Given the description of an element on the screen output the (x, y) to click on. 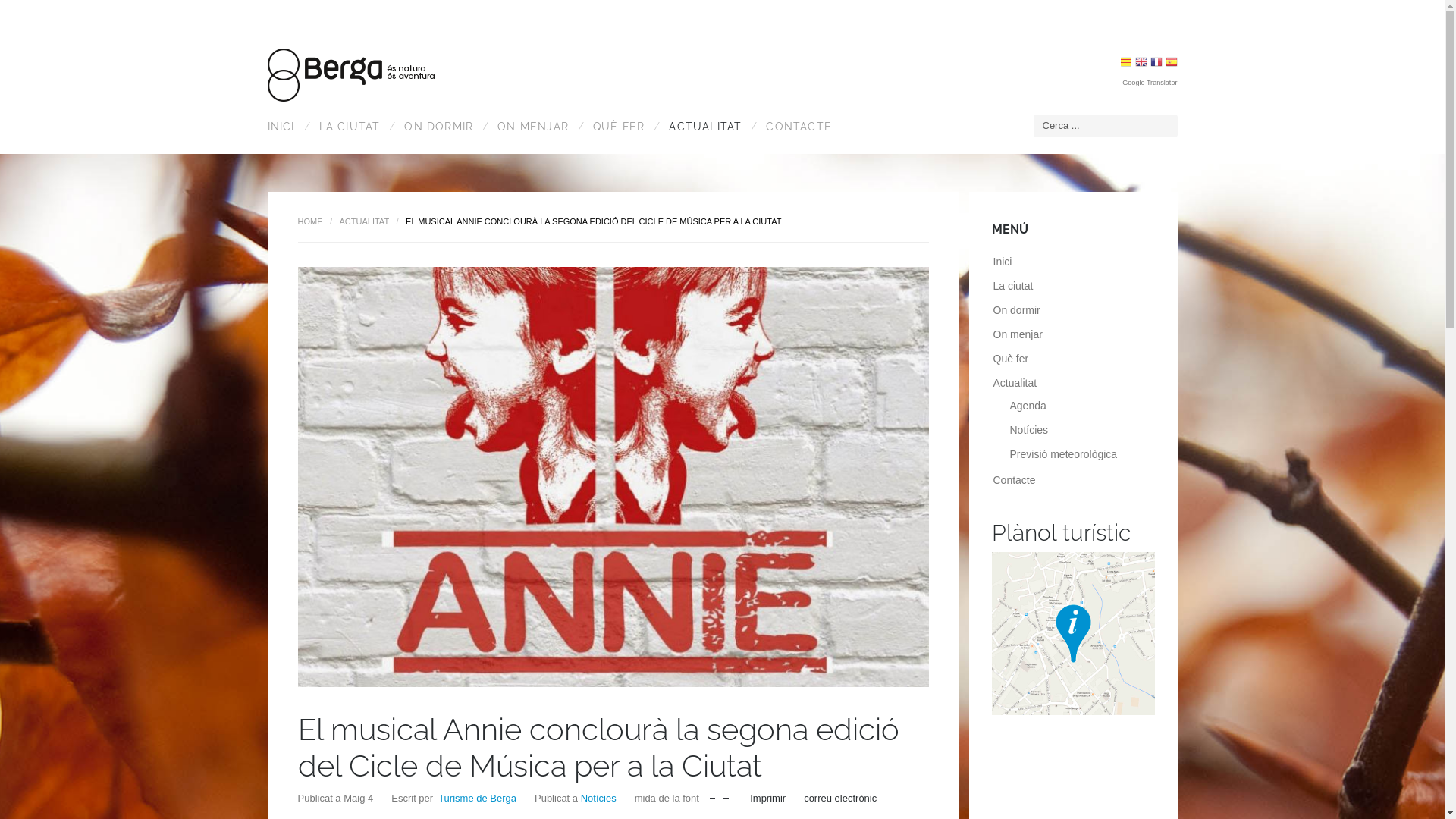
French Element type: hover (1156, 63)
disminuir la mida de la font Element type: text (712, 794)
Catalan Element type: hover (1126, 63)
Turisme de Berga Element type: text (477, 797)
On menjar Element type: text (1017, 334)
HOME Element type: text (309, 220)
ON DORMIR Element type: text (435, 126)
LA CIUTAT Element type: text (346, 126)
augment de mida de la font Element type: text (725, 794)
INICI Element type: text (284, 126)
Agenda Element type: text (1028, 405)
Actualitat Element type: text (1015, 382)
Contacte Element type: text (1014, 479)
La ciutat Element type: text (1013, 285)
CONTACTE Element type: text (795, 126)
Inici Element type: text (1002, 261)
ON MENJAR Element type: text (529, 126)
Spanish Element type: hover (1170, 63)
ACTUALITAT Element type: text (364, 220)
Imprimir Element type: text (767, 797)
English Element type: hover (1141, 63)
On dormir Element type: text (1016, 310)
ACTUALITAT Element type: text (701, 126)
